Given the description of an element on the screen output the (x, y) to click on. 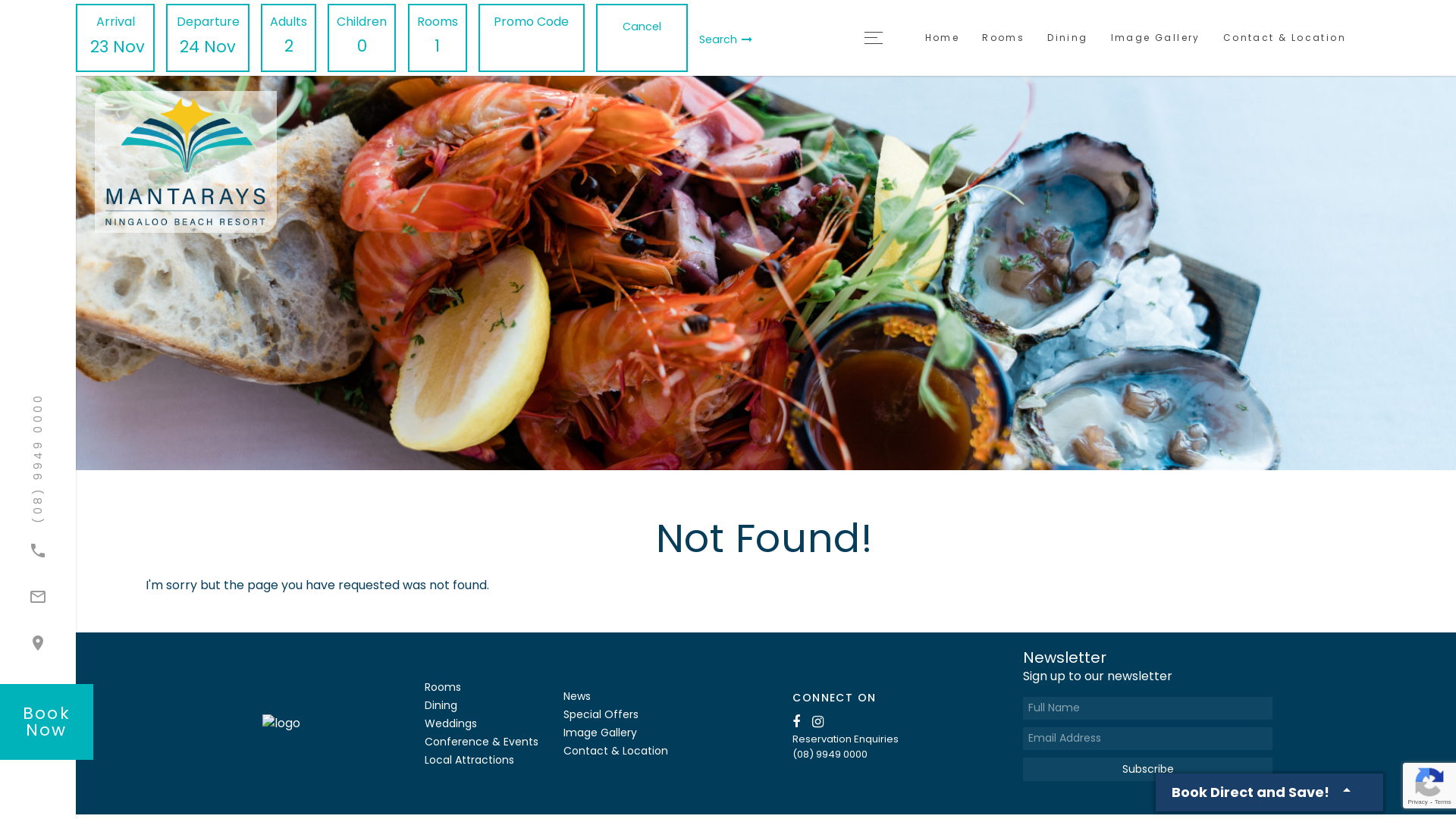
Search Element type: text (725, 38)
Rooms Element type: text (442, 686)
logo Element type: hover (281, 722)
Cancel Element type: text (641, 26)
(08) 9949 0000 Element type: text (845, 753)
Rooms Element type: text (1002, 37)
Dining Element type: text (440, 704)
Subscribe Element type: text (1146, 768)
Book Now Element type: text (46, 721)
Image Gallery Element type: text (600, 732)
Mantarays Ningaloo Beach Resort Element type: hover (246, 161)
Dining Element type: text (1066, 37)
Special Offers Element type: text (600, 713)
Contact & Location Element type: text (1284, 37)
Image Gallery Element type: text (1155, 37)
News Element type: text (576, 695)
Conference & Events Element type: text (481, 741)
Local Attractions Element type: text (469, 759)
Home Element type: text (942, 37)
Contact & Location Element type: text (615, 750)
Weddings Element type: text (450, 723)
